Given the description of an element on the screen output the (x, y) to click on. 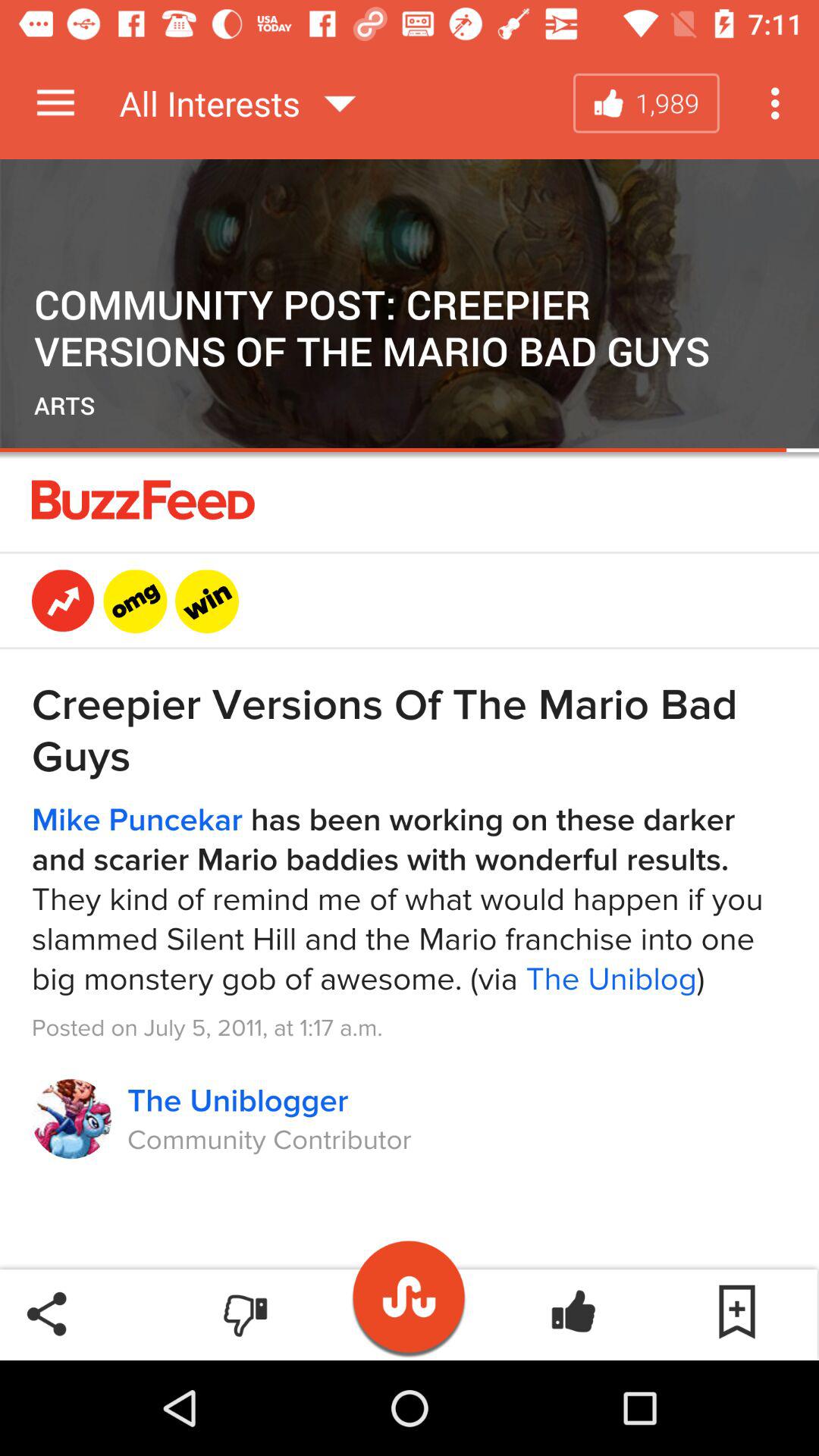
advertisement page (409, 859)
